Given the description of an element on the screen output the (x, y) to click on. 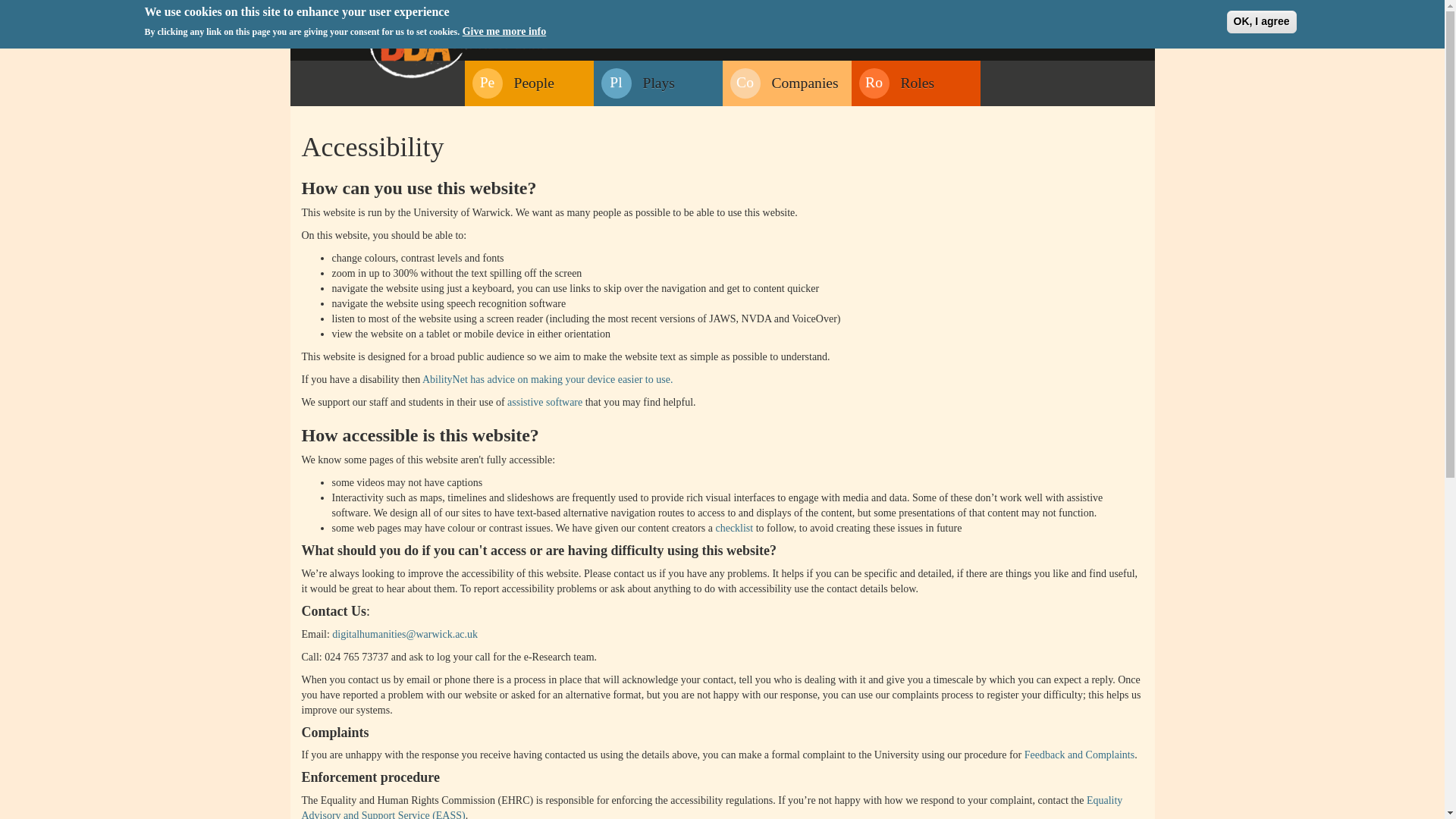
OK, I agree (1262, 21)
How to use the database (783, 82)
Project Website (1040, 12)
Feedback and Complaints (1109, 12)
AbilityNet has advice on making your device easier to use. (896, 82)
Home (1079, 754)
Project Website (512, 82)
Give me more info (547, 378)
assistive software (458, 43)
How to use (1109, 12)
checklist (636, 82)
